Given the description of an element on the screen output the (x, y) to click on. 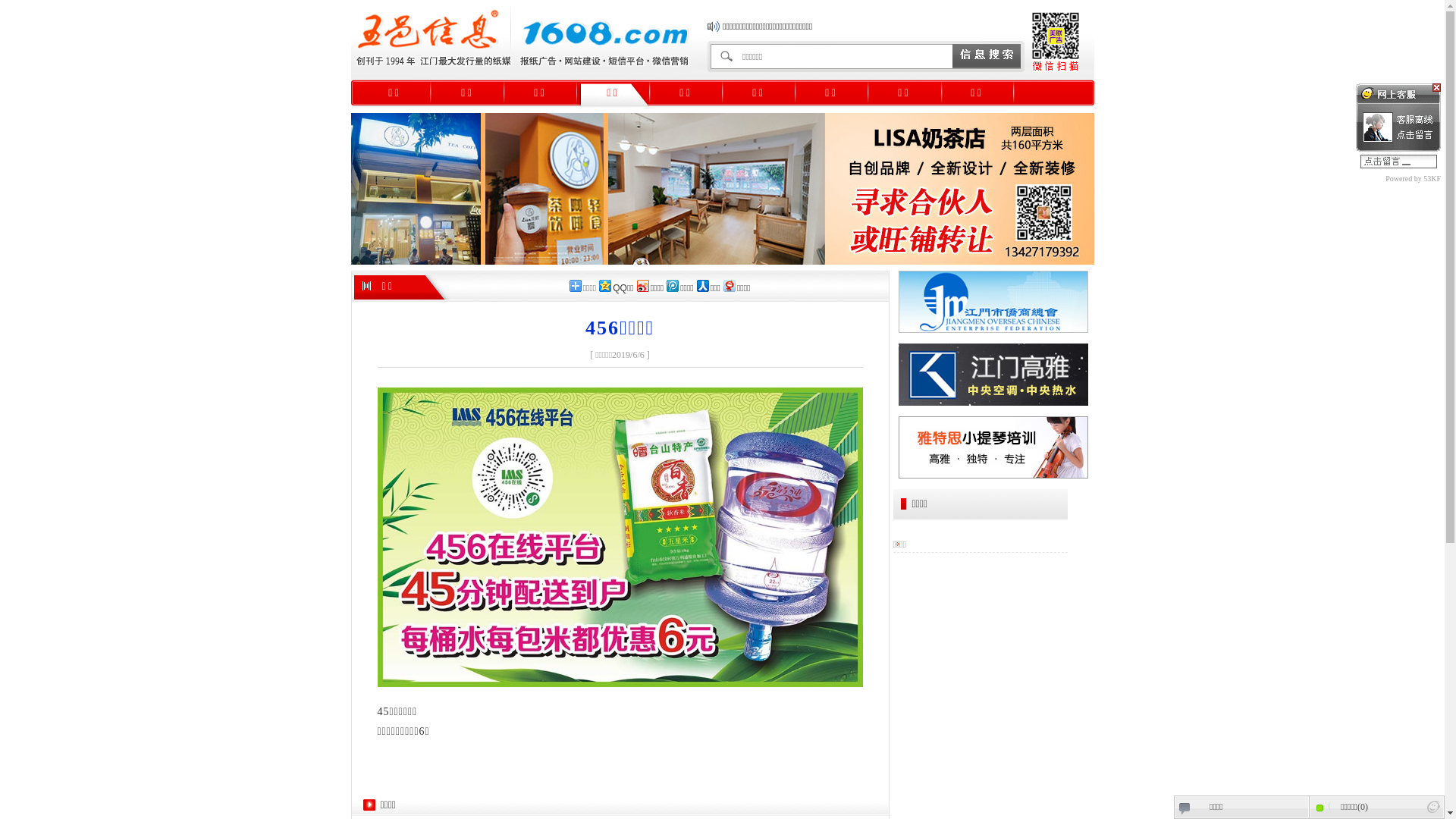
Powered by 53KF Element type: text (1397, 178)
Powered by 53KF Element type: hover (1433, 806)
